Given the description of an element on the screen output the (x, y) to click on. 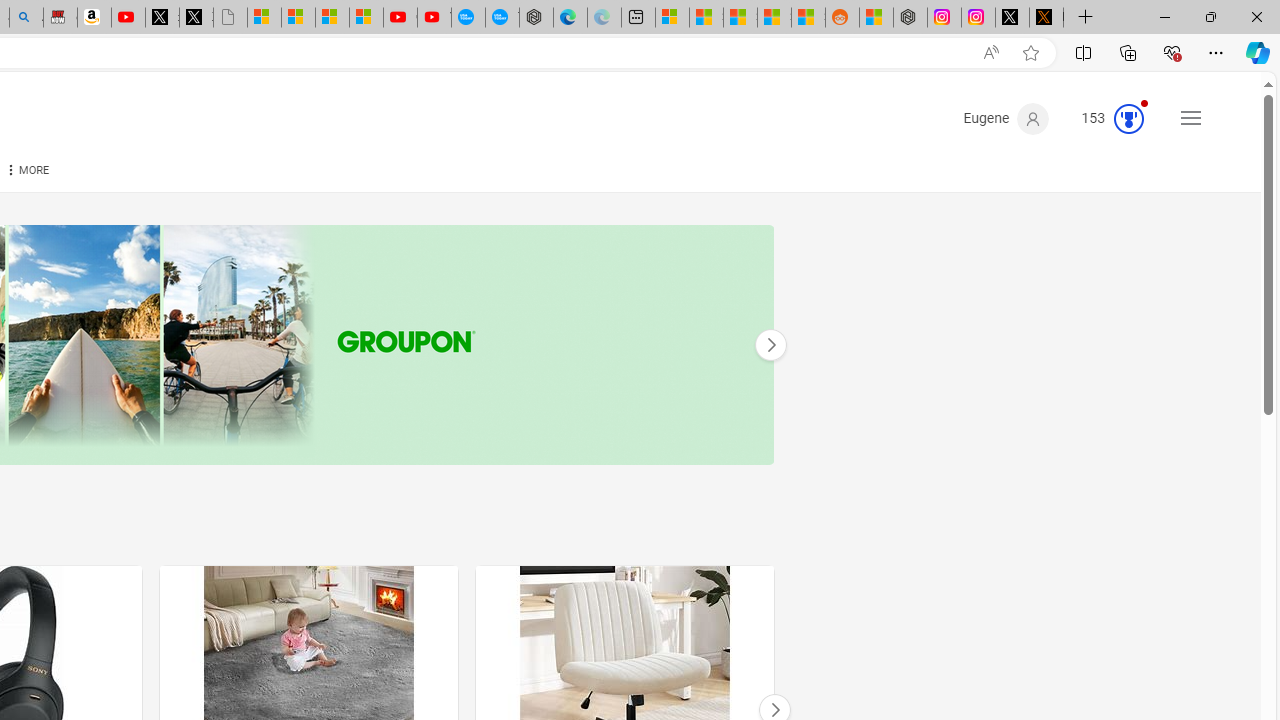
New tab (638, 17)
Click to scroll right (770, 344)
Settings and more (Alt+F) (1215, 52)
Collections (1128, 52)
Untitled (230, 17)
Copilot (Ctrl+Shift+.) (1258, 52)
Close (1256, 16)
Class: medal-circled (1129, 118)
The most popular Google 'how to' searches (502, 17)
